Given the description of an element on the screen output the (x, y) to click on. 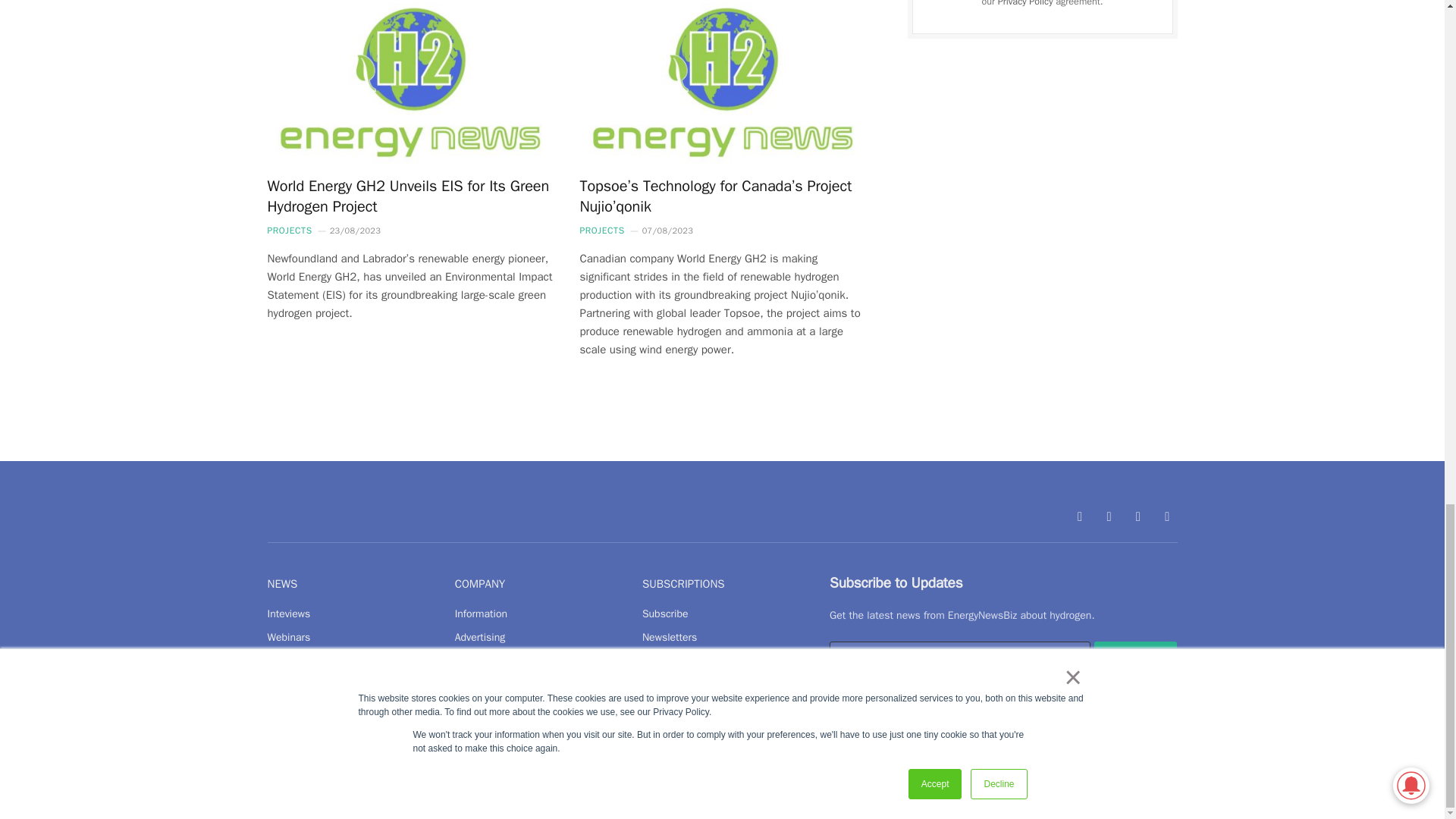
Subscribe (1135, 657)
on (834, 696)
